Given the description of an element on the screen output the (x, y) to click on. 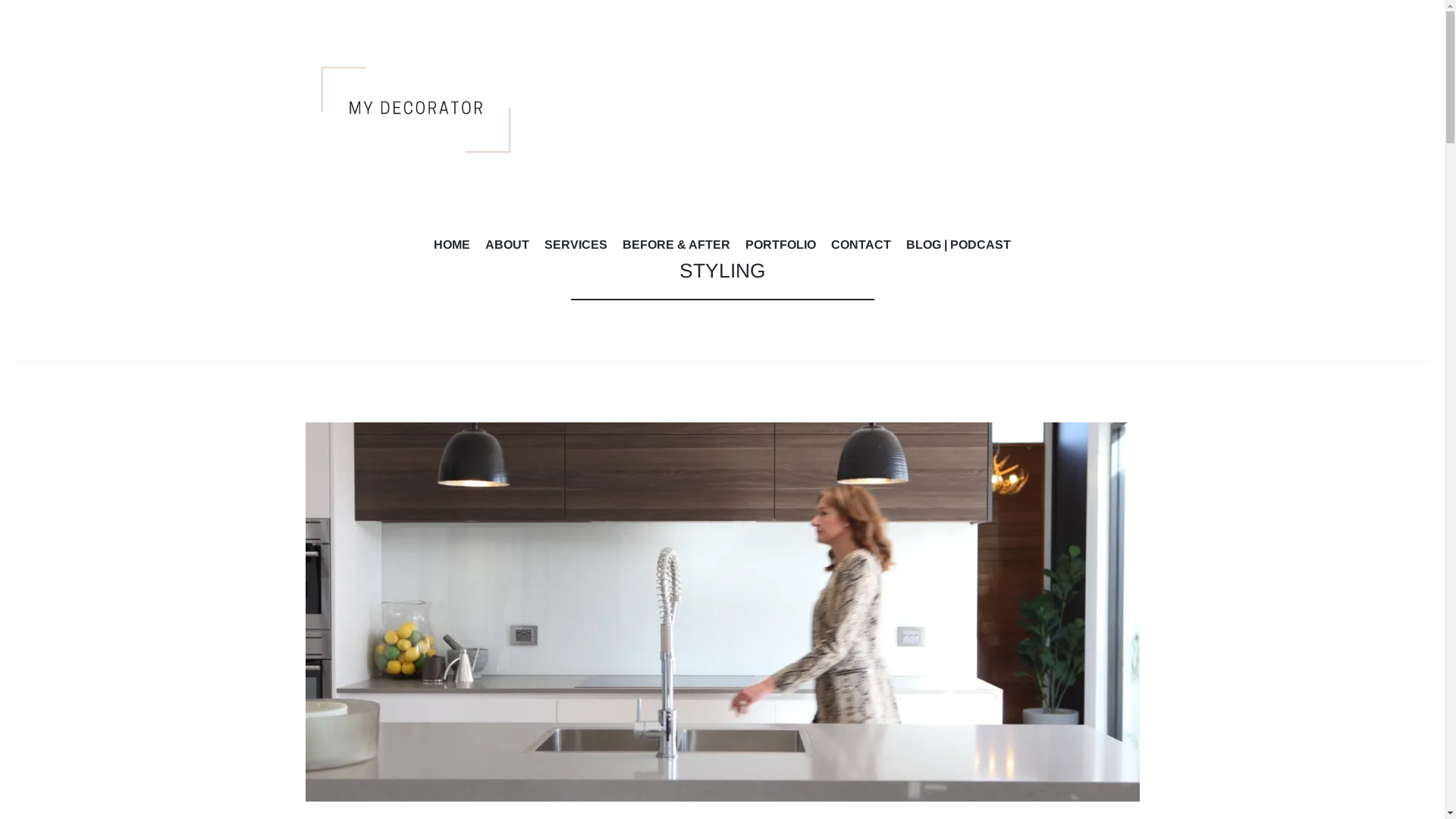
SERVICES Element type: text (575, 246)
HOME Element type: text (451, 246)
ABOUT Element type: text (507, 246)
PORTFOLIO Element type: text (780, 246)
CONTACT Element type: text (861, 246)
BEFORE & AFTER Element type: text (676, 246)
BLOG | PODCAST Element type: text (958, 246)
